Given the description of an element on the screen output the (x, y) to click on. 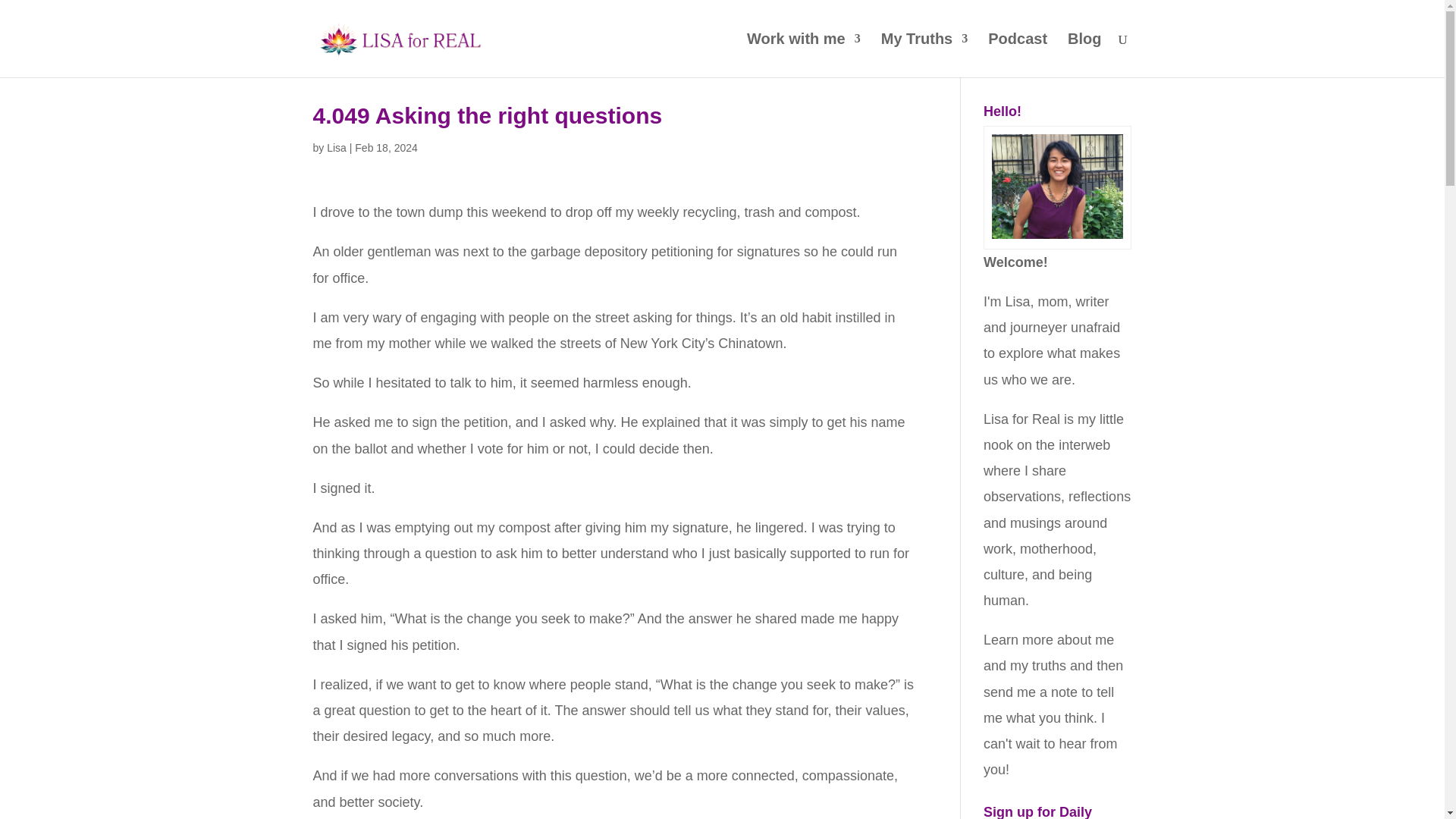
My Truths (924, 54)
send me a note (1030, 692)
Podcast (1017, 54)
Posts by Lisa (336, 147)
Work with me (803, 54)
Lisa (336, 147)
my truths (1037, 665)
